Given the description of an element on the screen output the (x, y) to click on. 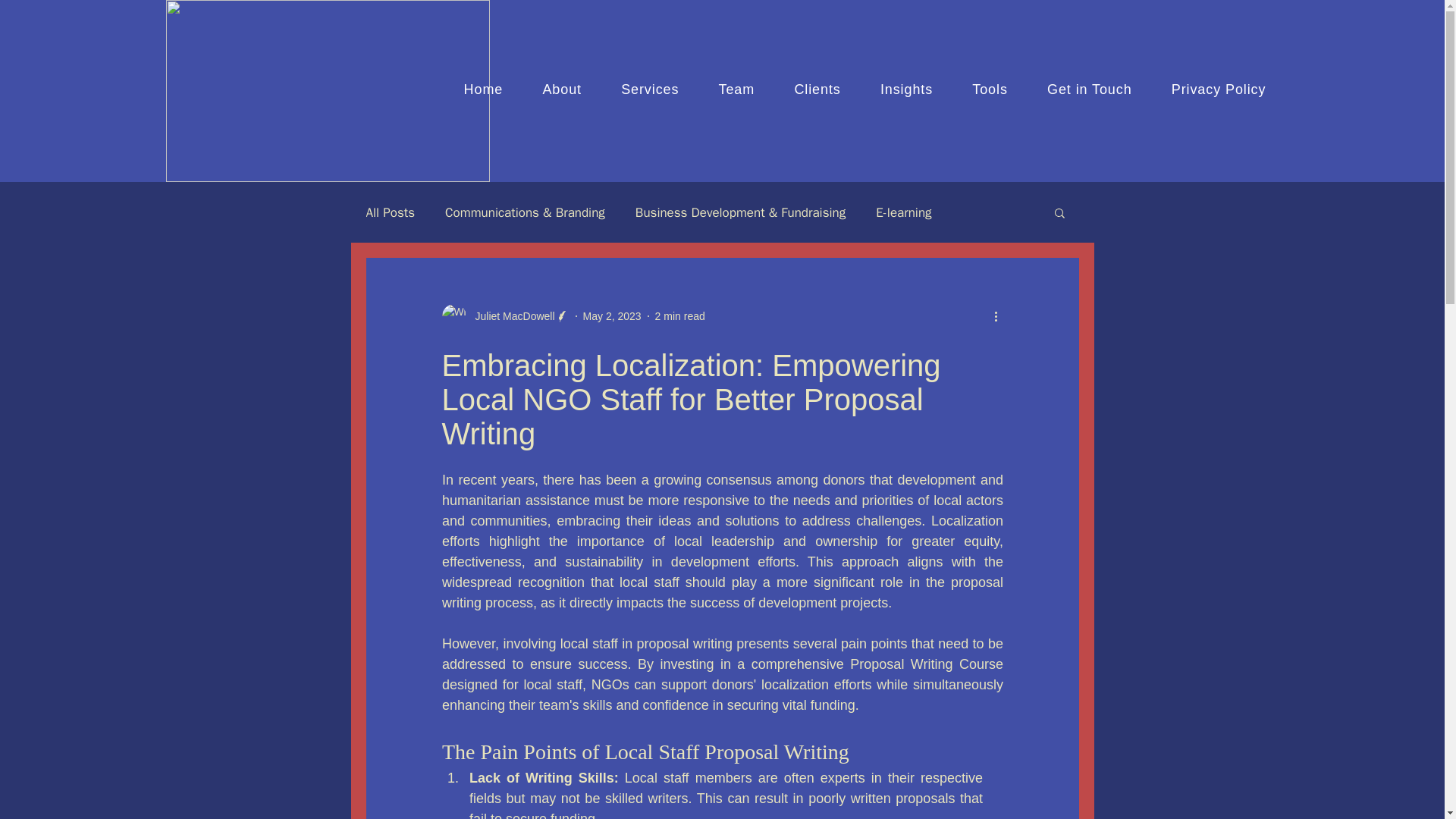
About (561, 89)
E-learning (903, 211)
Team (736, 89)
Clients (817, 89)
Juliet MacDowell (505, 315)
Juliet MacDowell (509, 315)
All Posts (389, 211)
Tools (989, 89)
Privacy Policy (1218, 89)
May 2, 2023 (612, 315)
Insights (906, 89)
Home (483, 89)
Get in Touch (1089, 89)
2 min read (679, 315)
Services (649, 89)
